Given the description of an element on the screen output the (x, y) to click on. 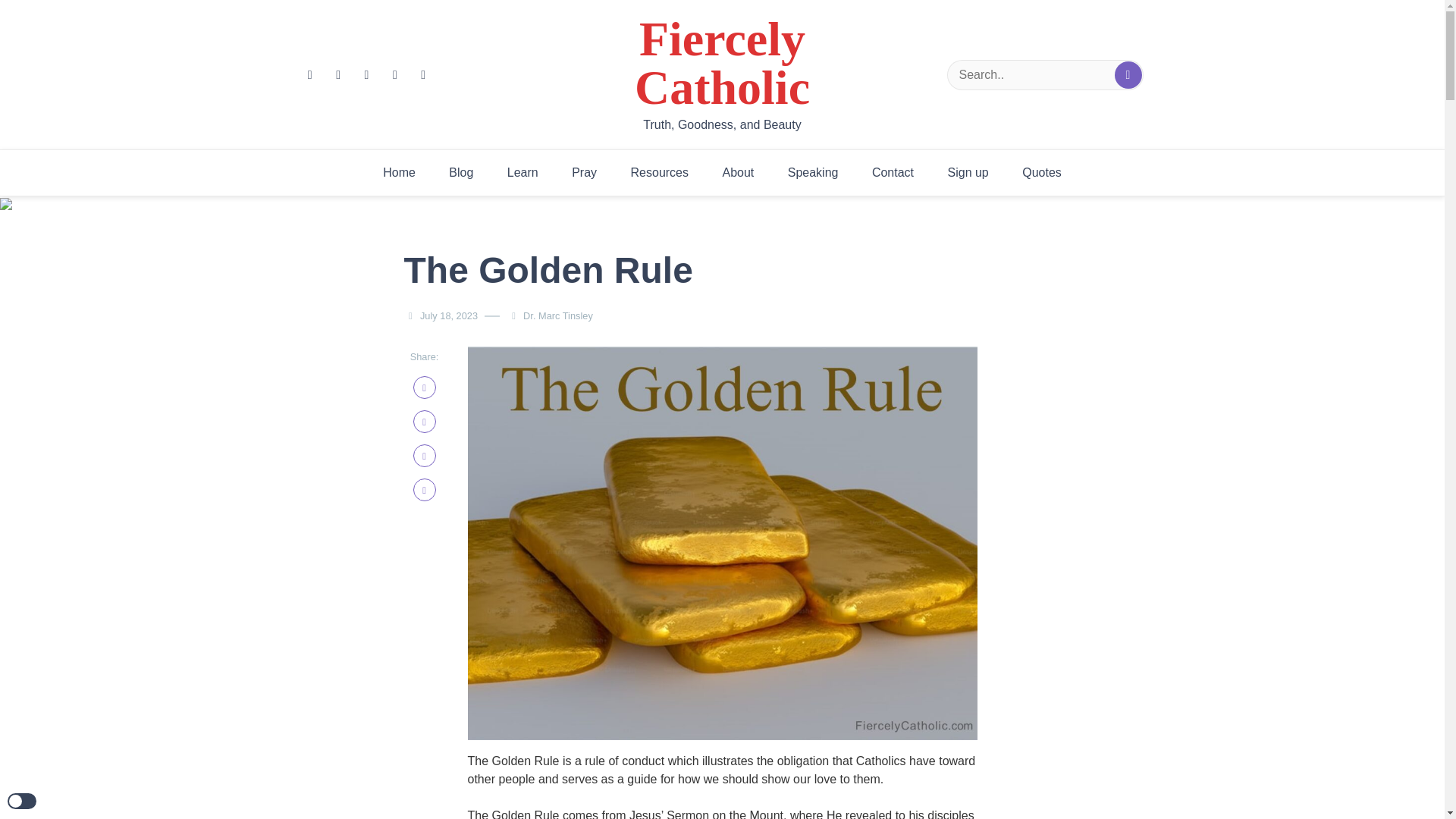
Quotes (1042, 173)
July 18, 2023 (448, 315)
Contact (892, 173)
Sign up (968, 173)
Pray (583, 173)
About (737, 173)
Fiercely Catholic (722, 63)
Learn (522, 173)
Home (399, 173)
Dr. Marc Tinsley (560, 315)
Resources (659, 173)
Blog (460, 173)
Speaking (813, 173)
